Given the description of an element on the screen output the (x, y) to click on. 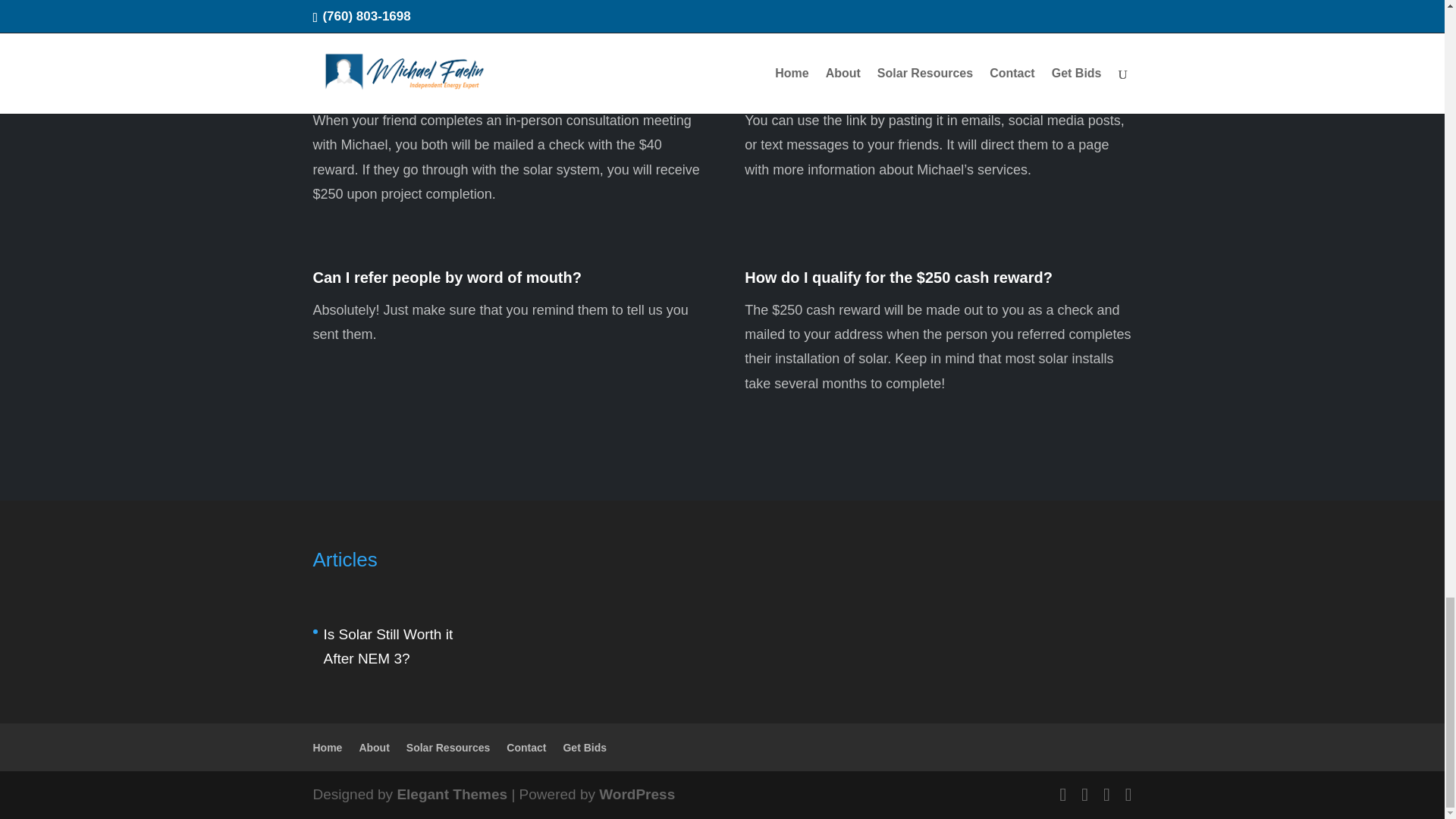
Home (327, 747)
Is Solar Still Worth it After NEM 3? (387, 646)
WordPress (636, 794)
Elegant Themes (451, 794)
Premium WordPress Themes (451, 794)
Get Bids (584, 747)
About (373, 747)
Contact (526, 747)
Solar Resources (448, 747)
